Given the description of an element on the screen output the (x, y) to click on. 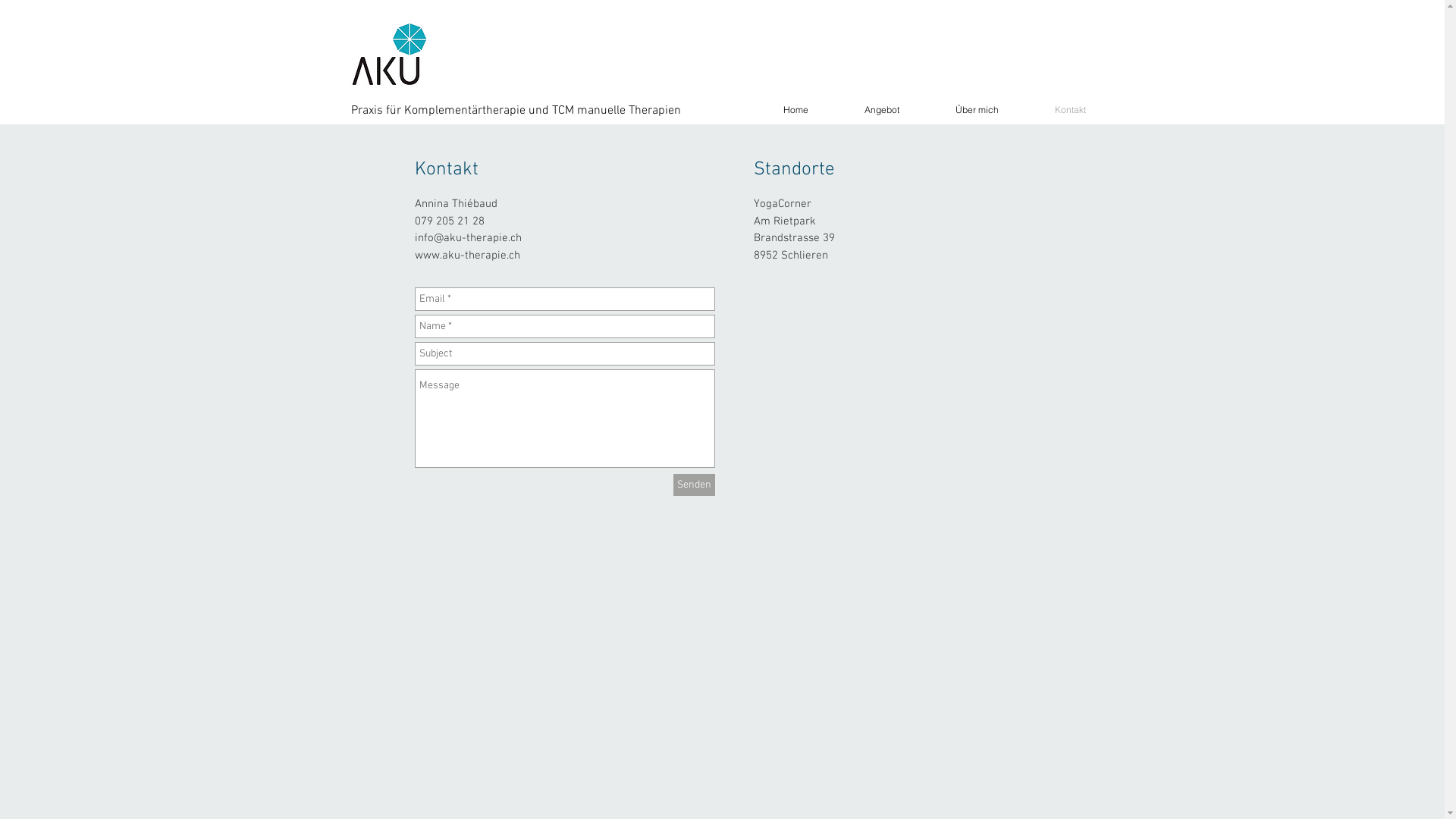
Google Maps Element type: hover (905, 377)
Kontakt Element type: text (1048, 109)
Angebot Element type: text (860, 109)
www.aku-therapie.ch Element type: text (466, 255)
info@aku-therapie.ch Element type: text (467, 237)
Senden Element type: text (694, 484)
Home Element type: text (774, 109)
